Given the description of an element on the screen output the (x, y) to click on. 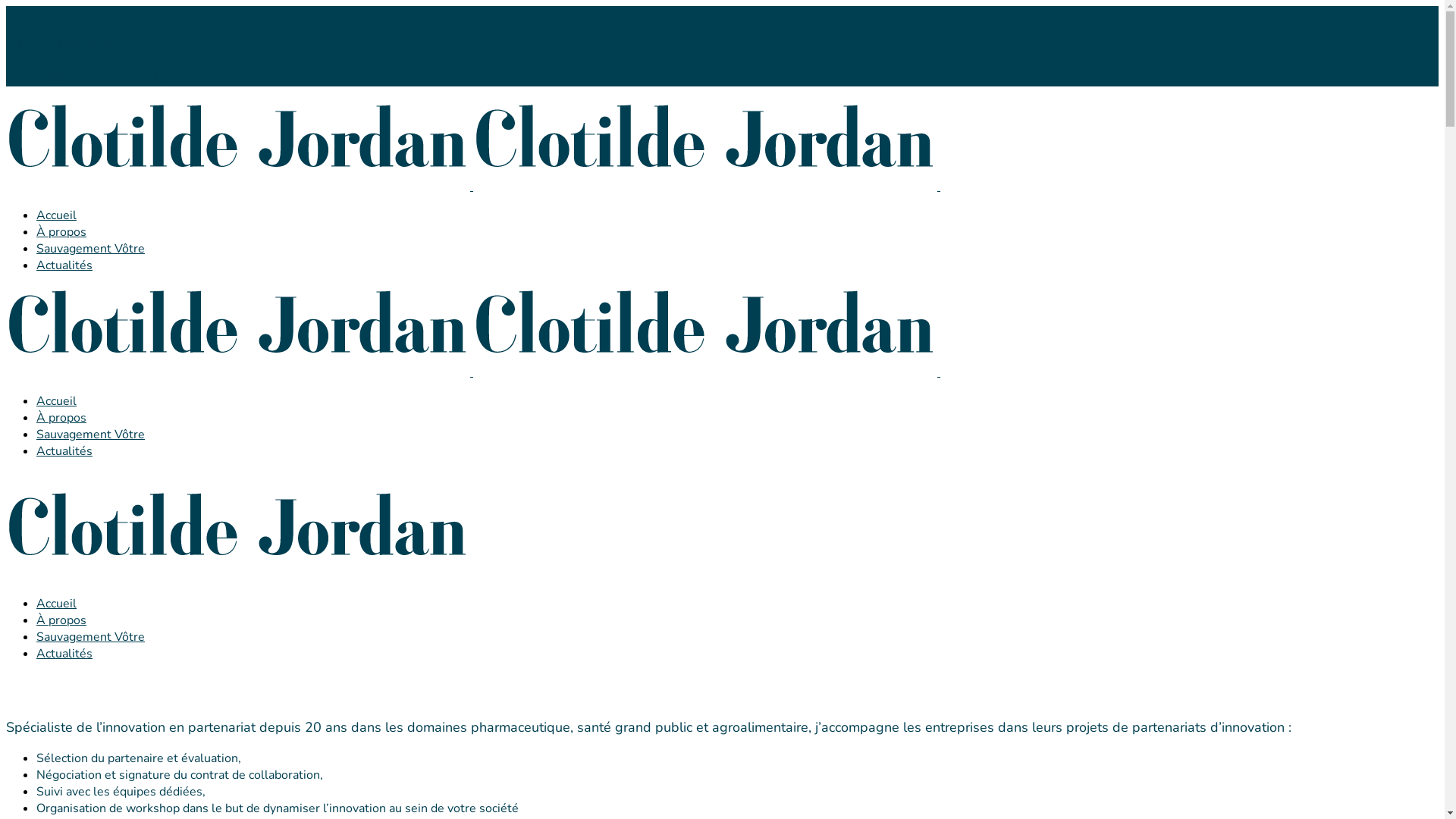
Accueil Element type: text (56, 603)
Accueil Element type: text (56, 215)
+41 79 770 82 85 Element type: text (63, 45)
Accueil Element type: text (56, 400)
contact@clotildejordan.ch Element type: text (84, 77)
